Given the description of an element on the screen output the (x, y) to click on. 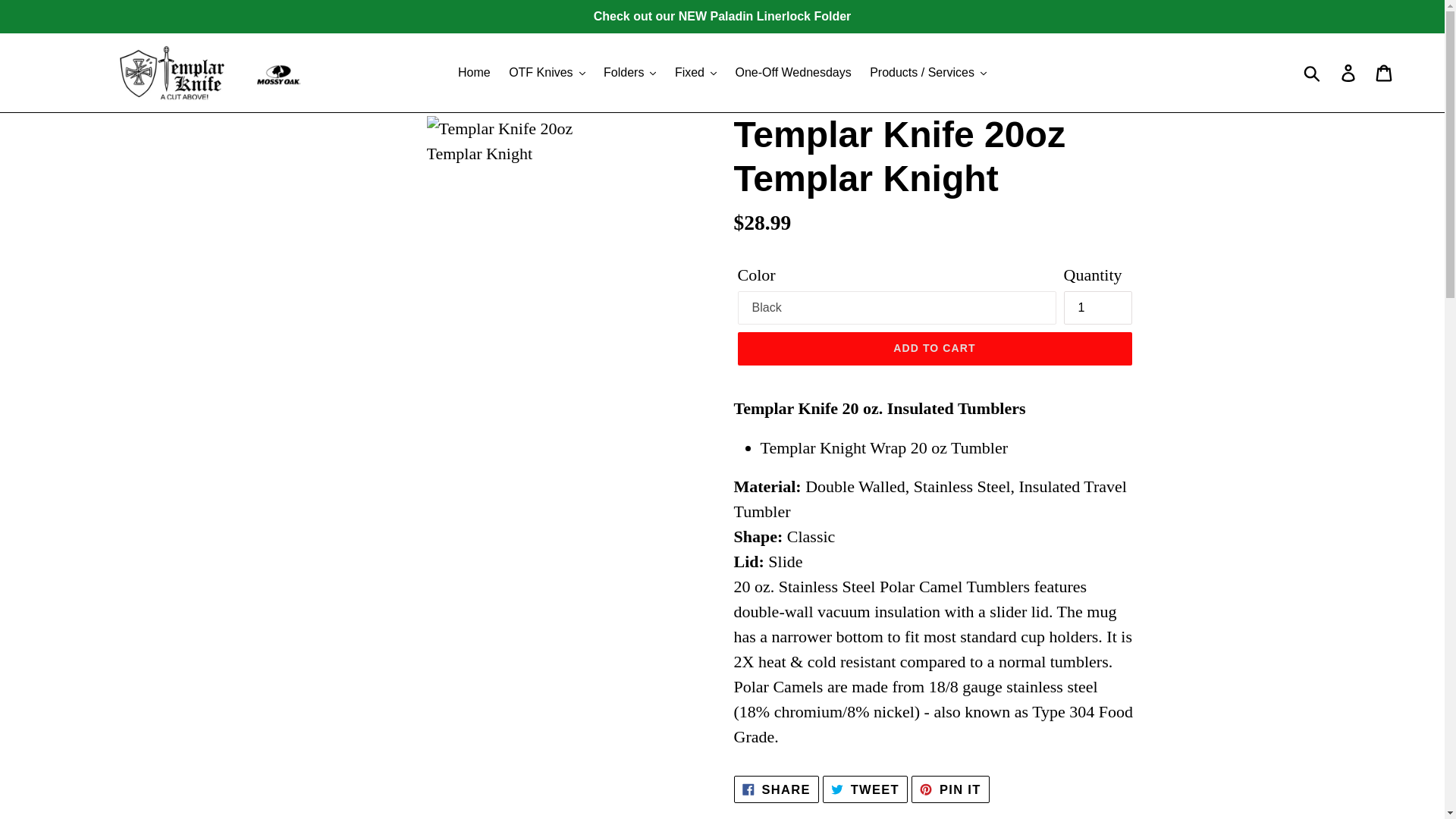
Log in (1349, 72)
Cart (1385, 72)
One-Off Wednesdays (792, 72)
Submit (1313, 72)
1 (1096, 307)
Home (473, 72)
